Given the description of an element on the screen output the (x, y) to click on. 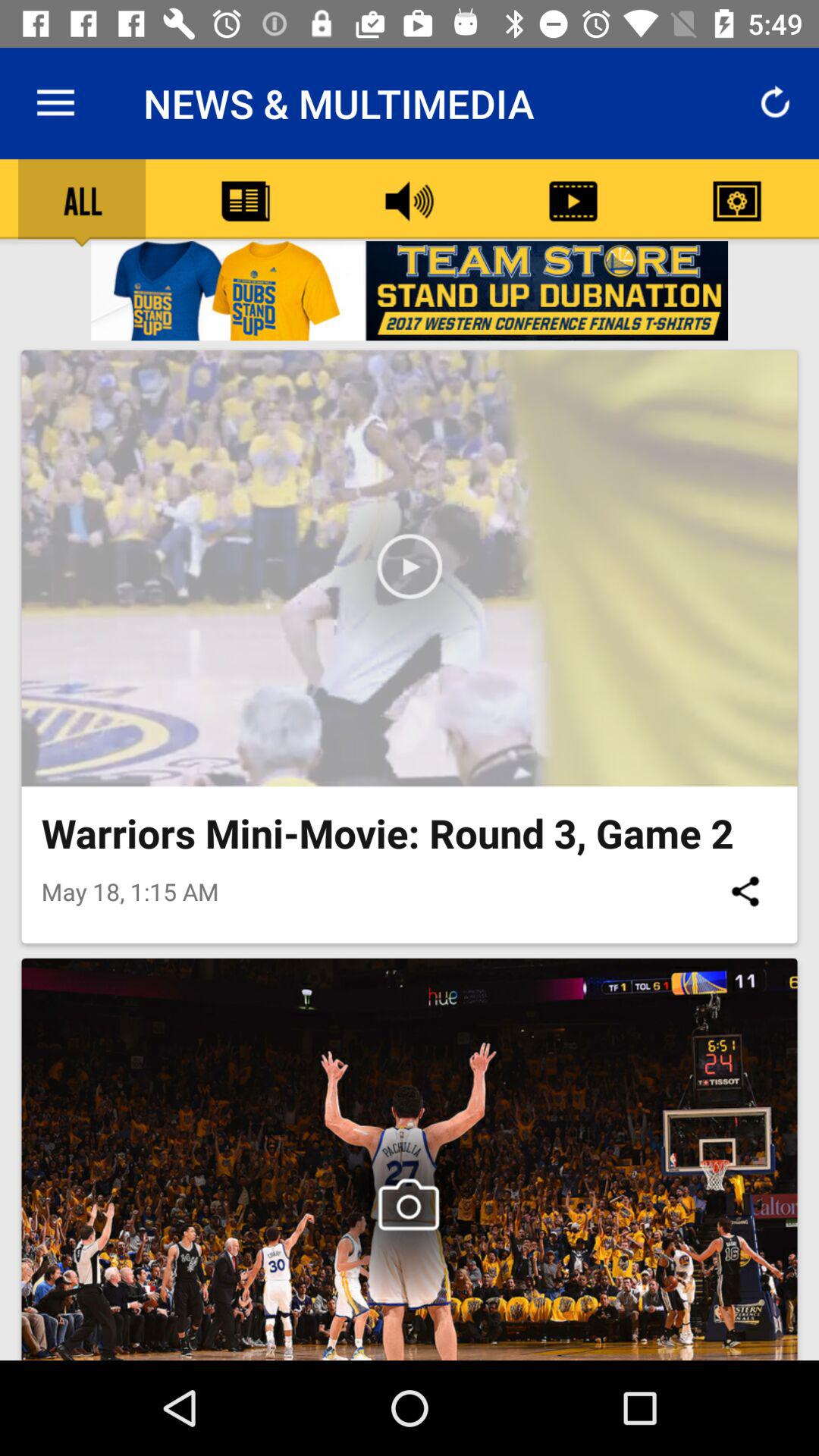
open the item next to may 18 1 (745, 891)
